Given the description of an element on the screen output the (x, y) to click on. 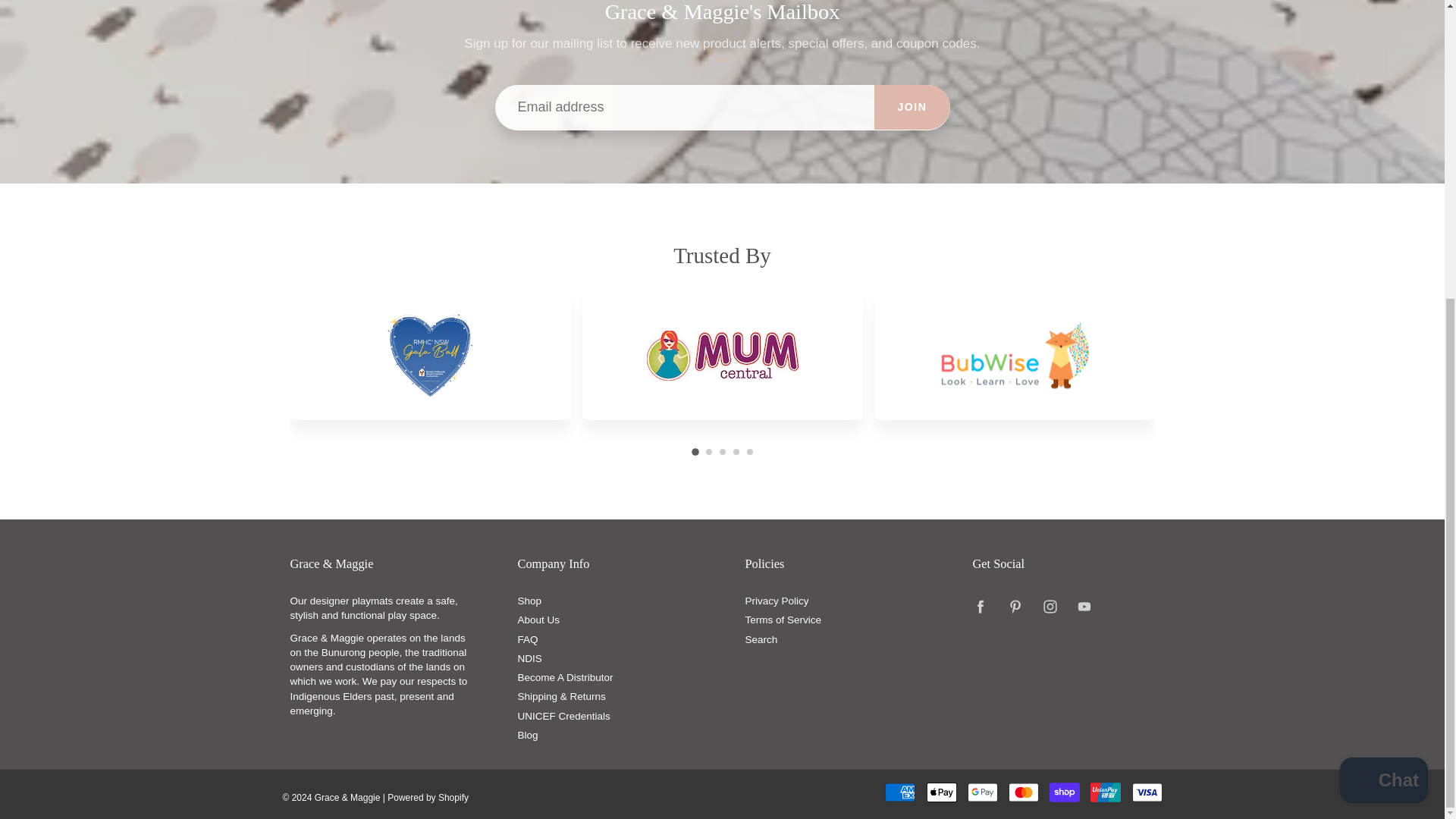
Mastercard (1024, 792)
Facebook (981, 606)
Union Pay (1105, 792)
Visa (1146, 792)
YouTube (1084, 606)
Apple Pay (941, 792)
Pinterest (1014, 606)
Instagram (1049, 606)
Google Pay (982, 792)
Shop Pay (1064, 792)
